Given the description of an element on the screen output the (x, y) to click on. 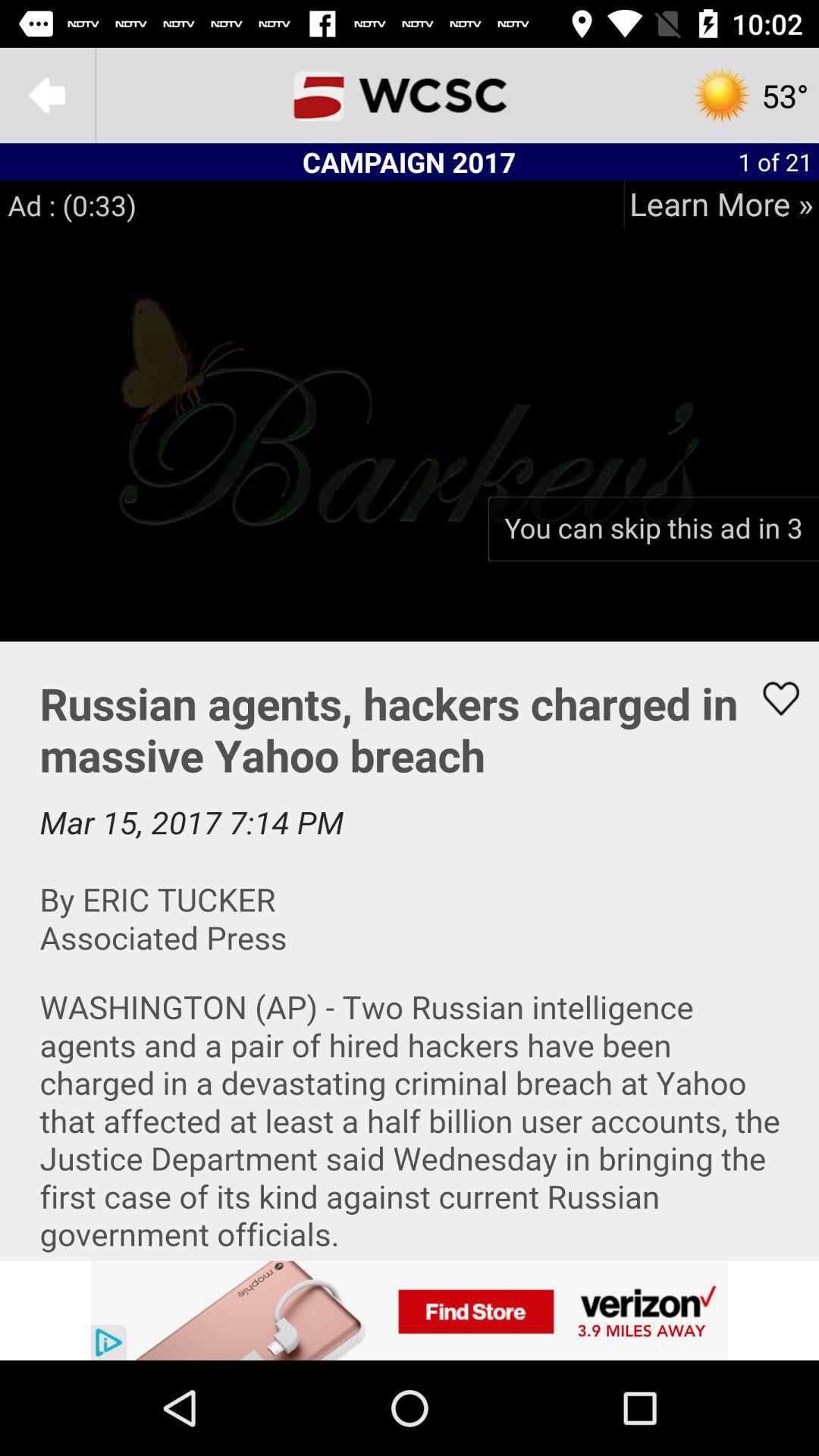
to go back (47, 95)
